Given the description of an element on the screen output the (x, y) to click on. 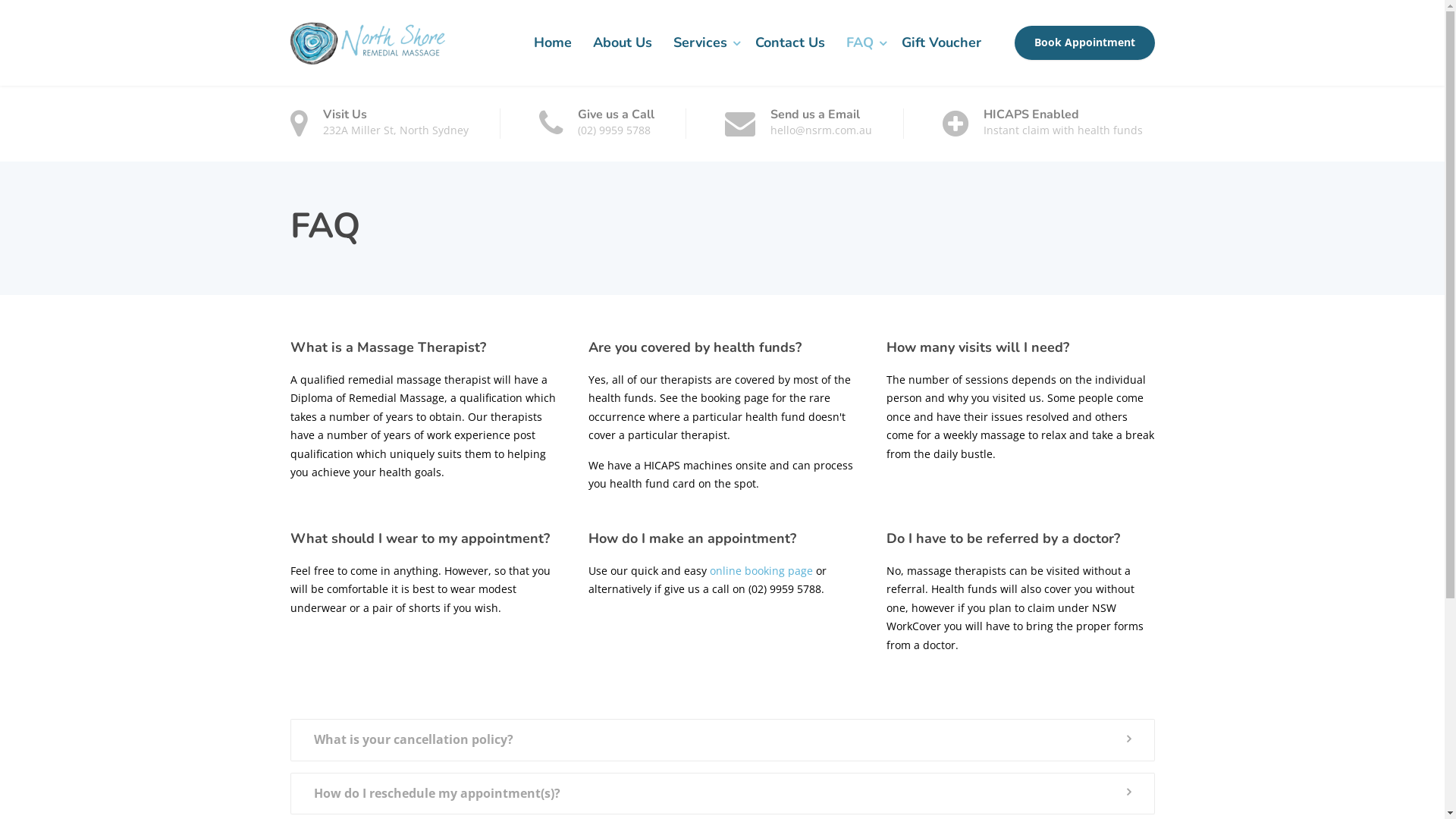
Gift Voucher Element type: text (940, 42)
About Us Element type: text (622, 42)
Contact Us Element type: text (789, 42)
Book Appointment Element type: text (1084, 42)
online booking page Element type: text (760, 570)
Home Element type: text (552, 42)
Services Element type: text (703, 42)
How do I reschedule my appointment(s)? Element type: text (721, 793)
North Shore Remedial Massage Element type: hover (366, 42)
What is your cancellation policy? Element type: text (721, 739)
FAQ Element type: text (863, 42)
